Given the description of an element on the screen output the (x, y) to click on. 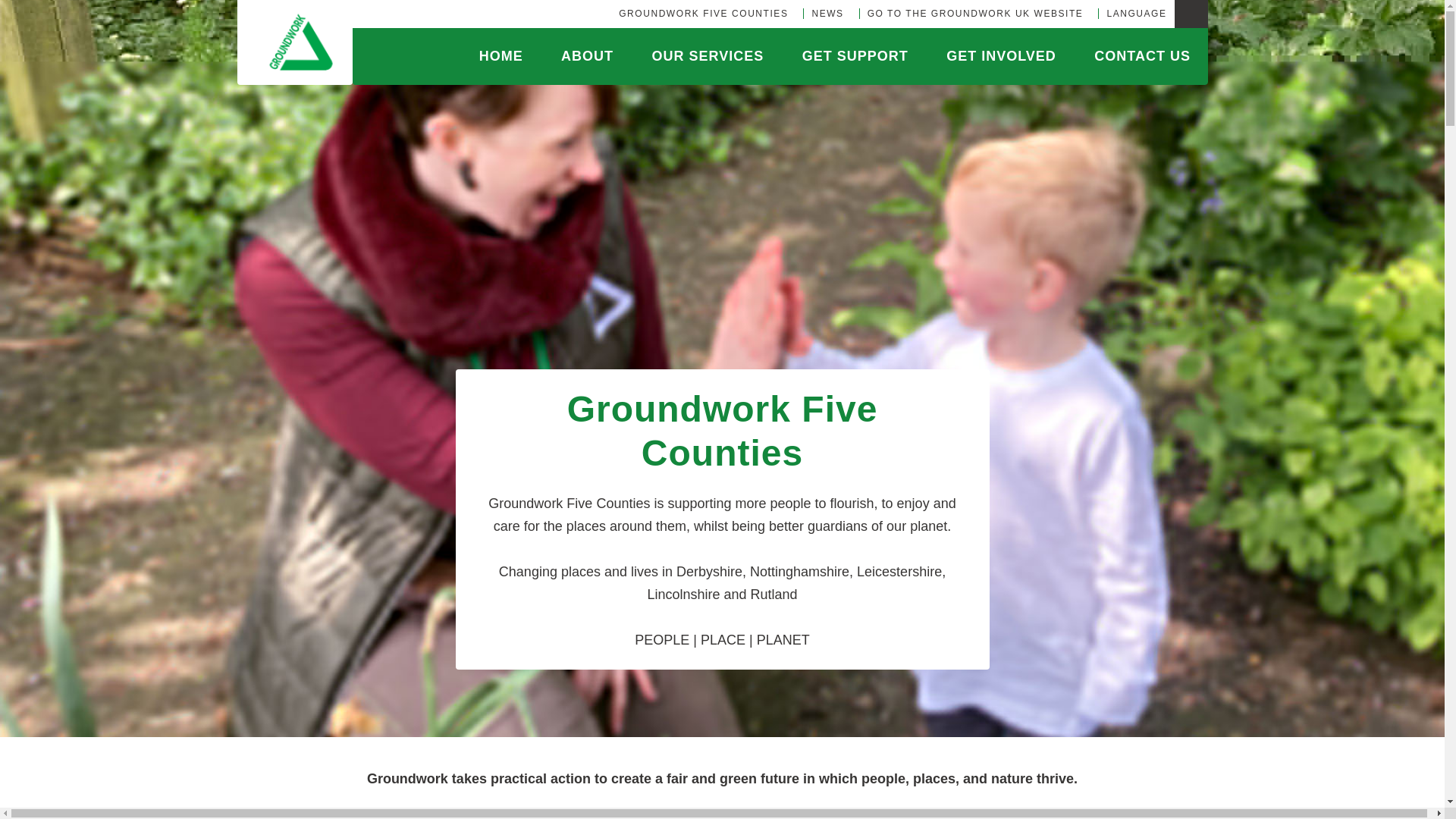
GROUNDWORK FIVE COUNTIES (699, 13)
CONTACT US (1125, 56)
LANGUAGE (1131, 13)
GET SUPPORT (837, 56)
GO TO THE GROUNDWORK UK WEBSITE (970, 13)
GET INVOLVED (984, 56)
ABOUT (568, 56)
NEWS (822, 13)
HOME (483, 56)
OUR SERVICES (690, 56)
